Given the description of an element on the screen output the (x, y) to click on. 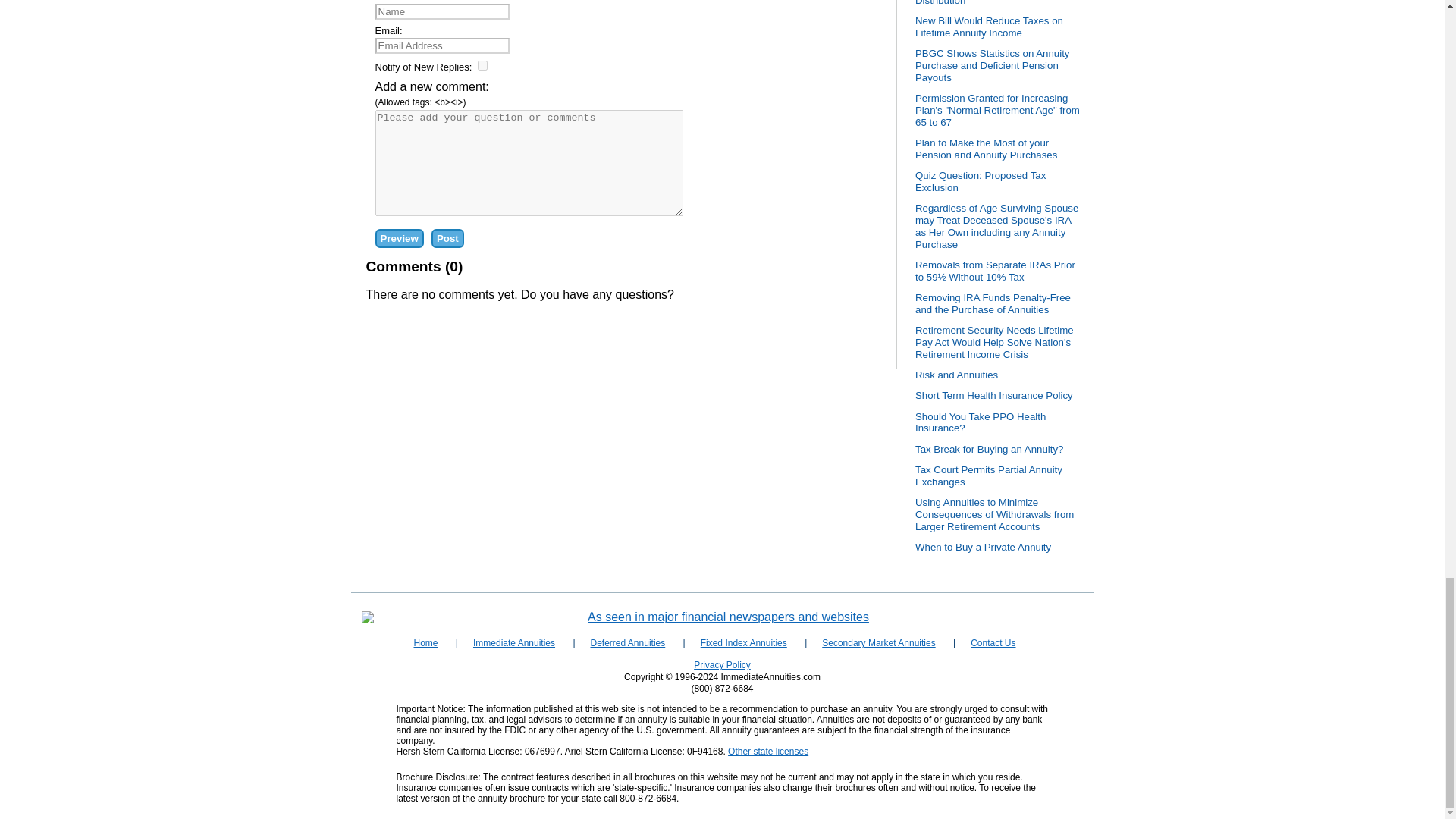
Post (447, 238)
Preview (398, 238)
1 (482, 65)
